Given the description of an element on the screen output the (x, y) to click on. 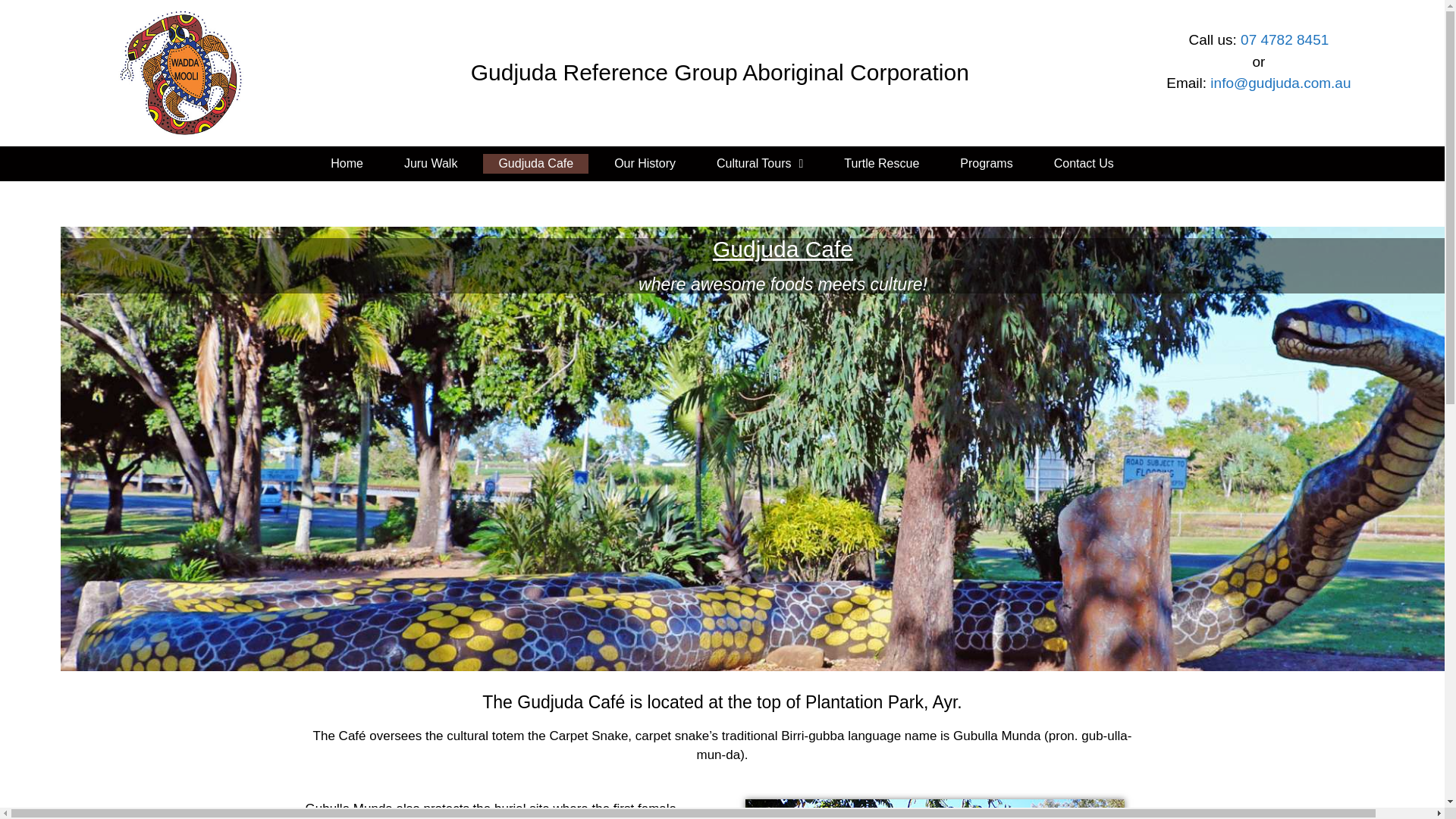
Cultural Tours (759, 163)
07 4782 8451 (1283, 39)
Gudjuda Cafe (535, 163)
Home (346, 163)
Juru Walk (430, 163)
Contact Us (1084, 163)
Turtle Rescue (881, 163)
Programs (985, 163)
Our History (644, 163)
